Given the description of an element on the screen output the (x, y) to click on. 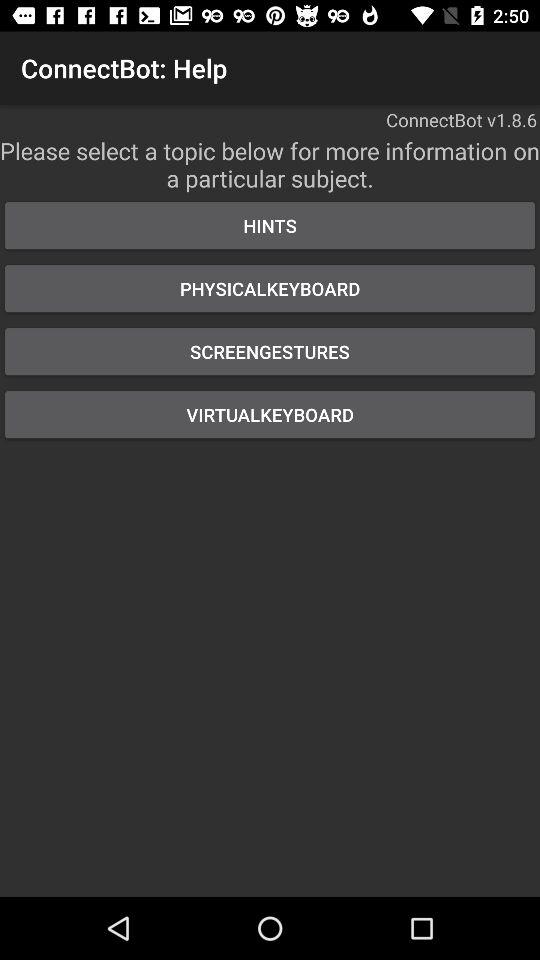
scroll until the virtualkeyboard button (270, 414)
